Given the description of an element on the screen output the (x, y) to click on. 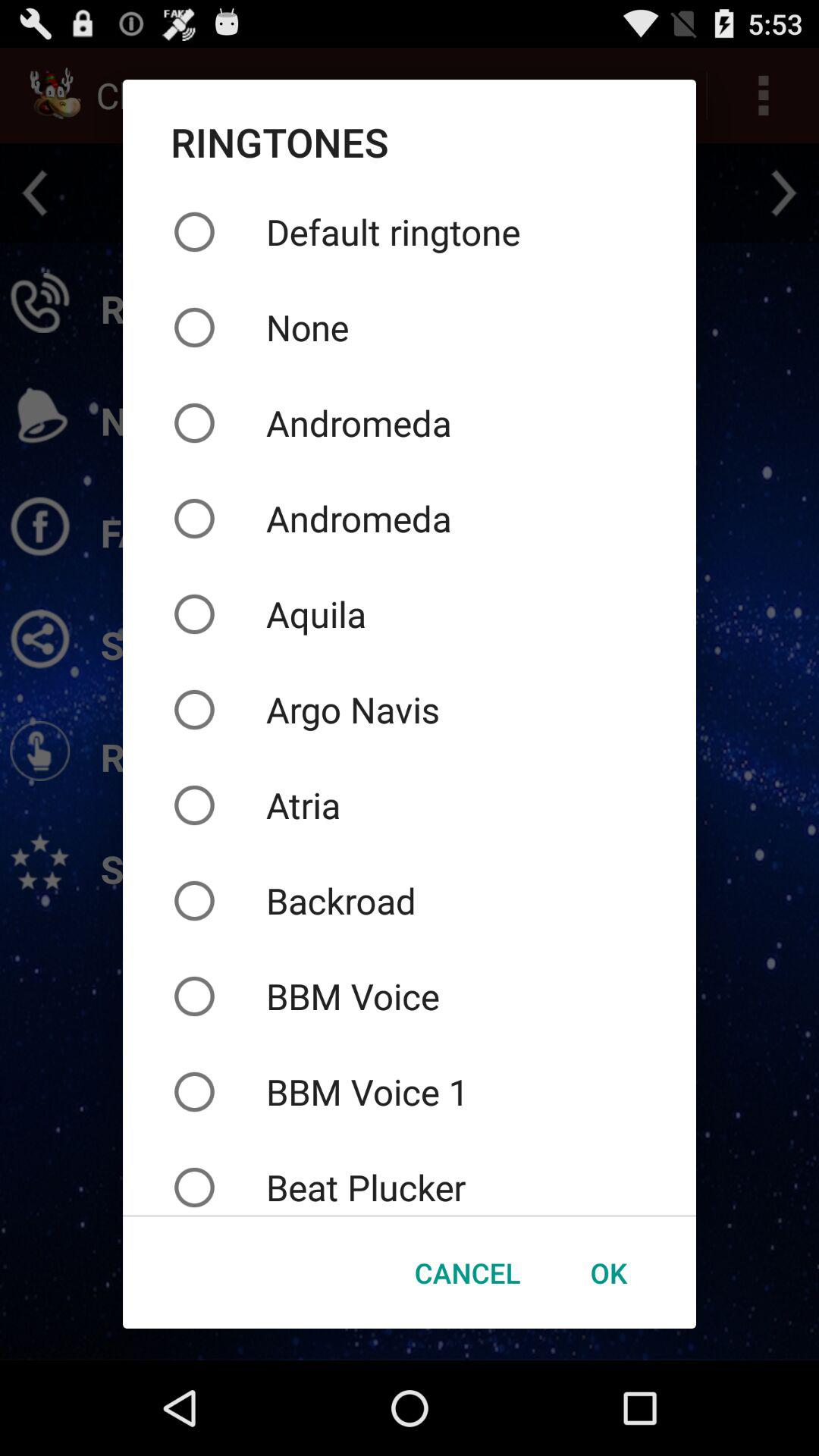
turn on icon below the beat plucker icon (467, 1272)
